Given the description of an element on the screen output the (x, y) to click on. 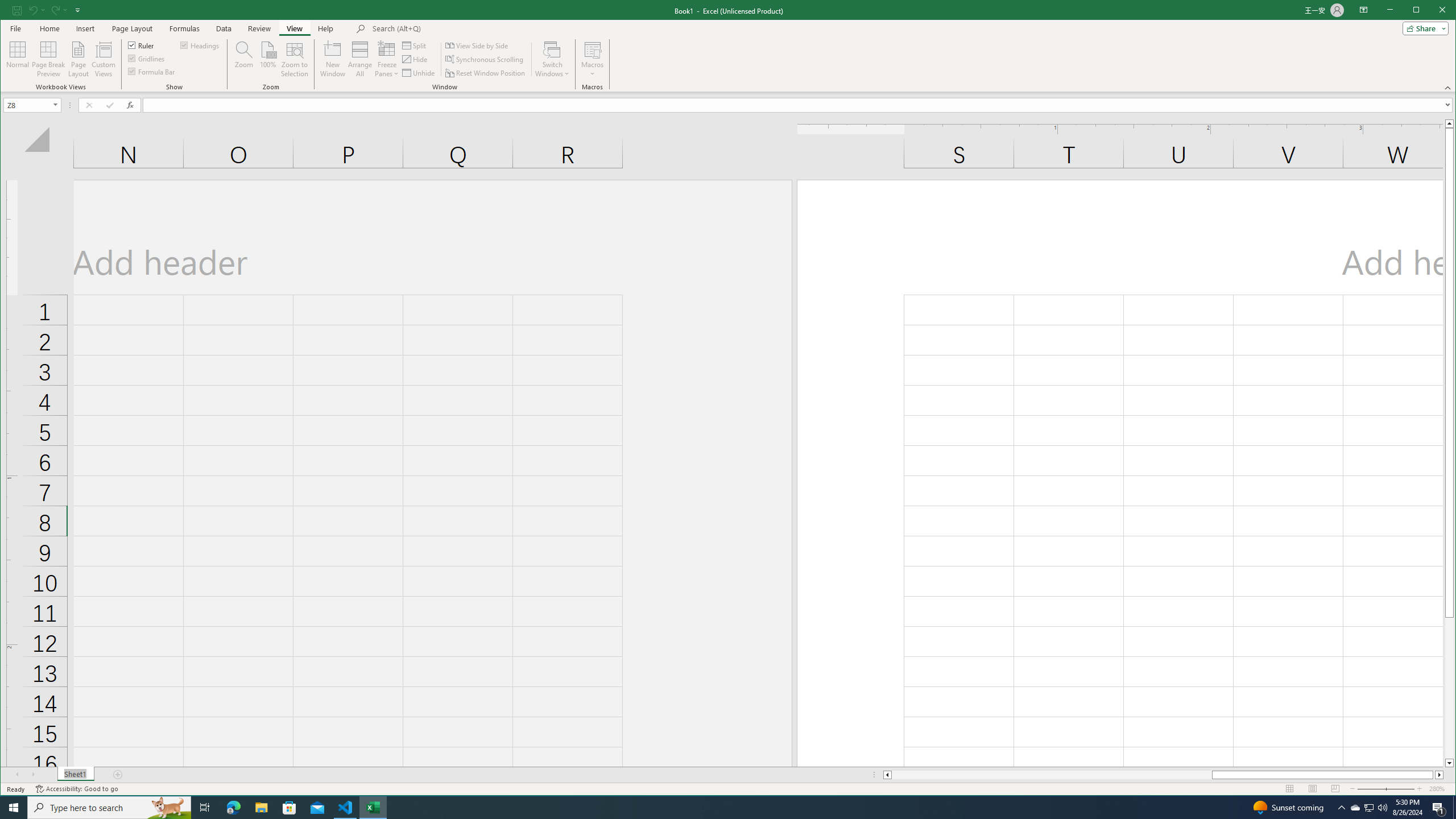
Line down (1449, 763)
Normal (17, 59)
Insert (85, 28)
Reset Window Position (486, 72)
Freeze Panes (387, 59)
100% (267, 59)
More Options (592, 69)
File Tab (15, 27)
Task View (204, 807)
Hide (415, 59)
